Given the description of an element on the screen output the (x, y) to click on. 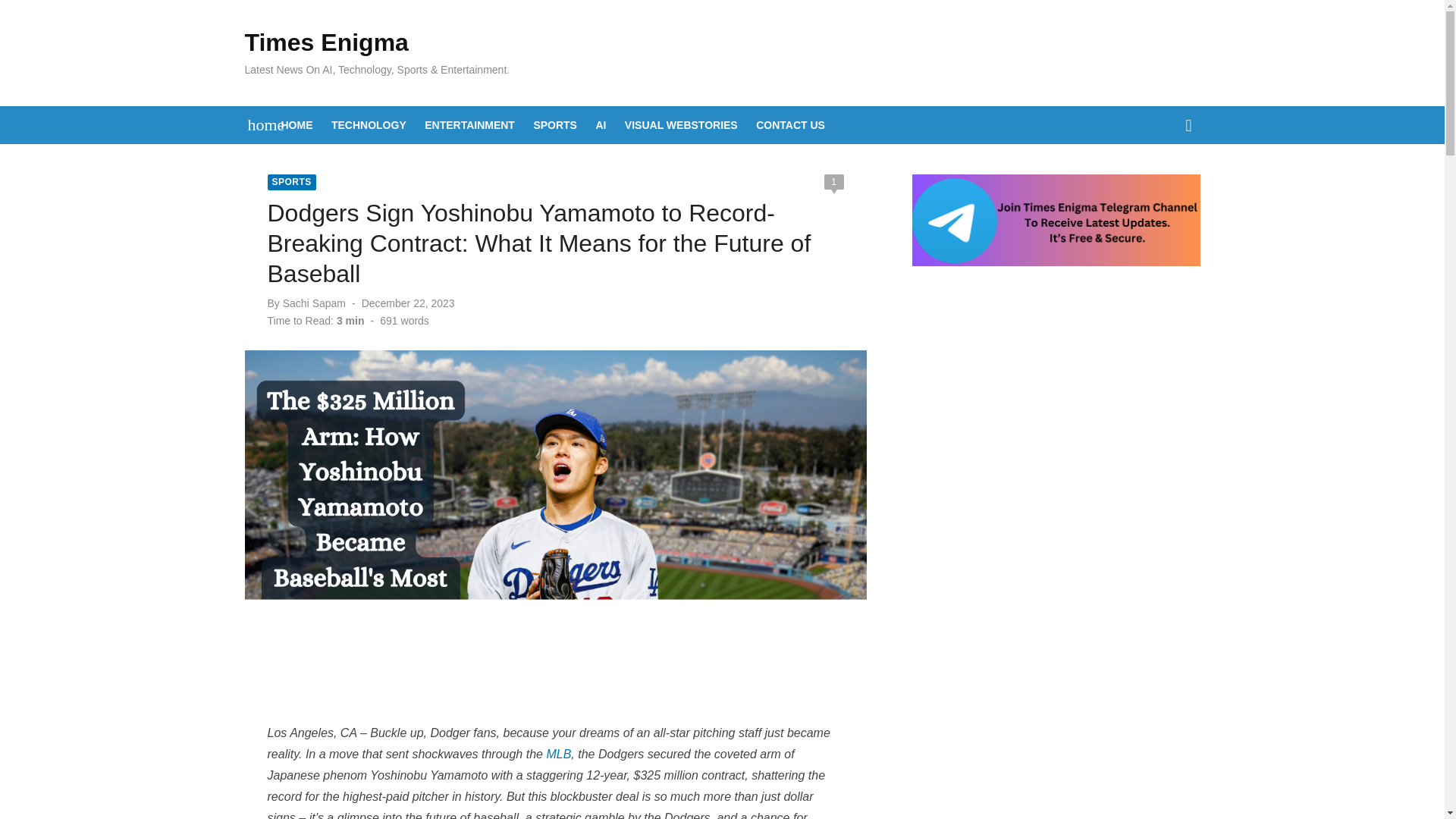
ENTERTAINMENT (470, 125)
Times Enigma (325, 42)
home (258, 124)
1 (833, 181)
December 22, 2023 (407, 303)
CONTACT US (790, 125)
TECHNOLOGY (369, 125)
HOME (296, 125)
SPORTS (290, 182)
VISUAL WEBSTORIES (681, 125)
